Given the description of an element on the screen output the (x, y) to click on. 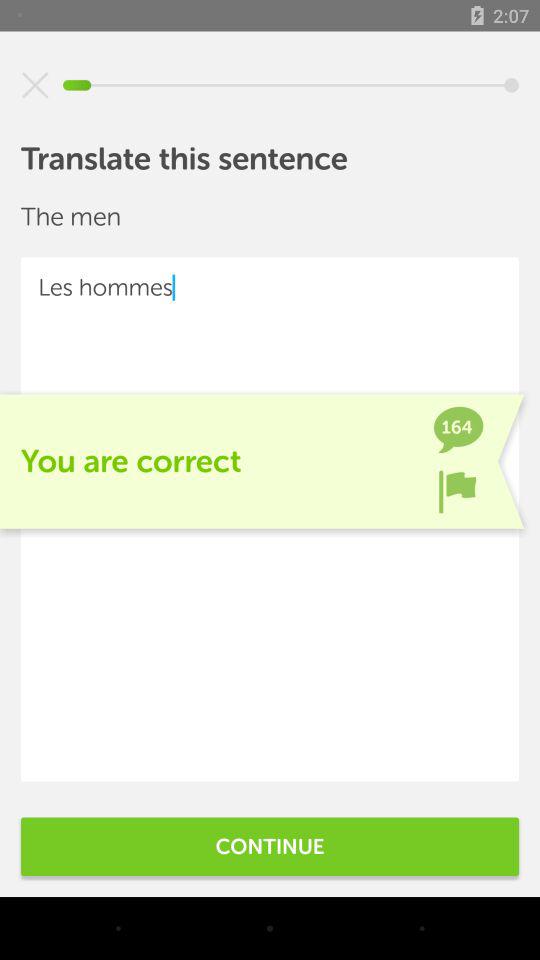
jump until the les hommes item (270, 519)
